Given the description of an element on the screen output the (x, y) to click on. 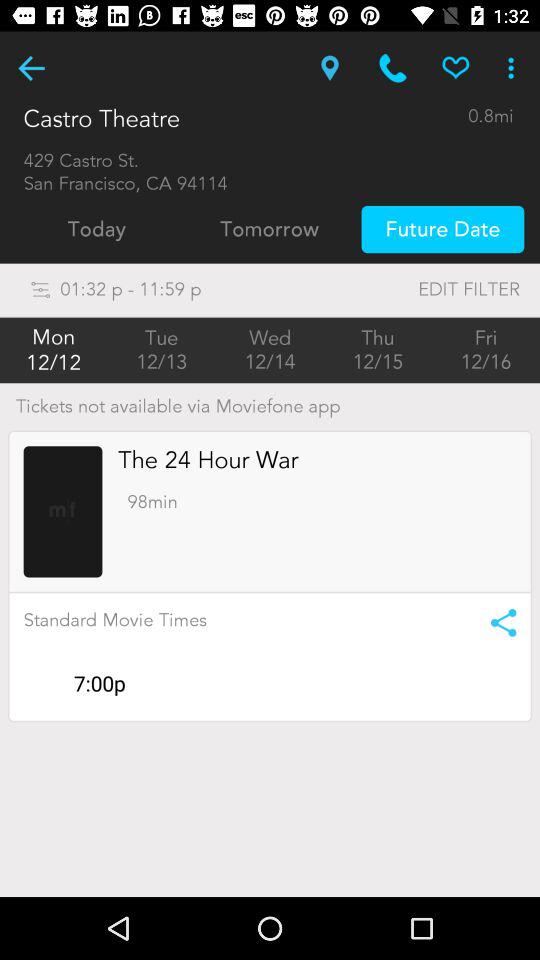
launch the icon to the right of the 01 32 p icon (428, 289)
